Given the description of an element on the screen output the (x, y) to click on. 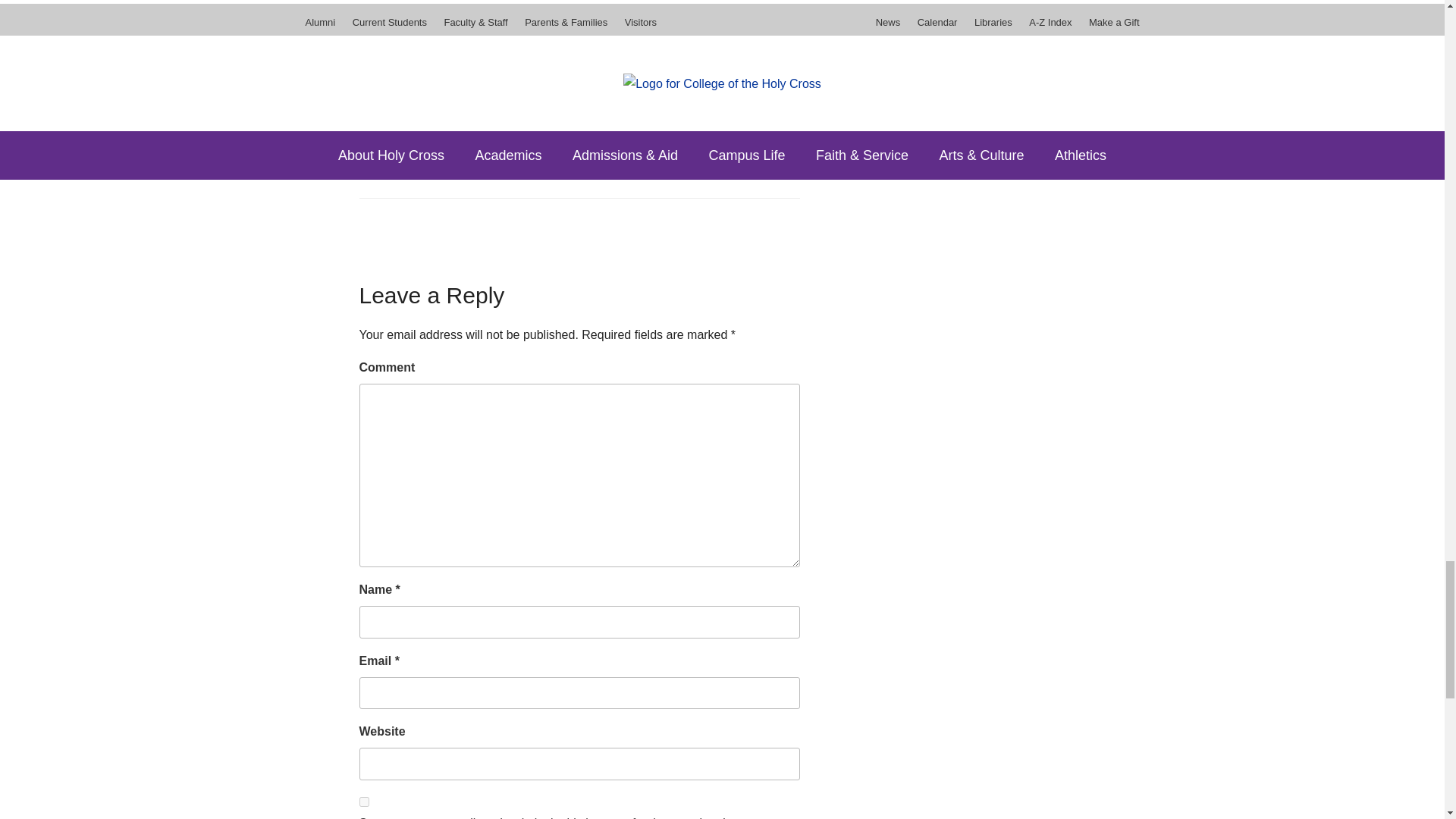
yes (364, 801)
